Given the description of an element on the screen output the (x, y) to click on. 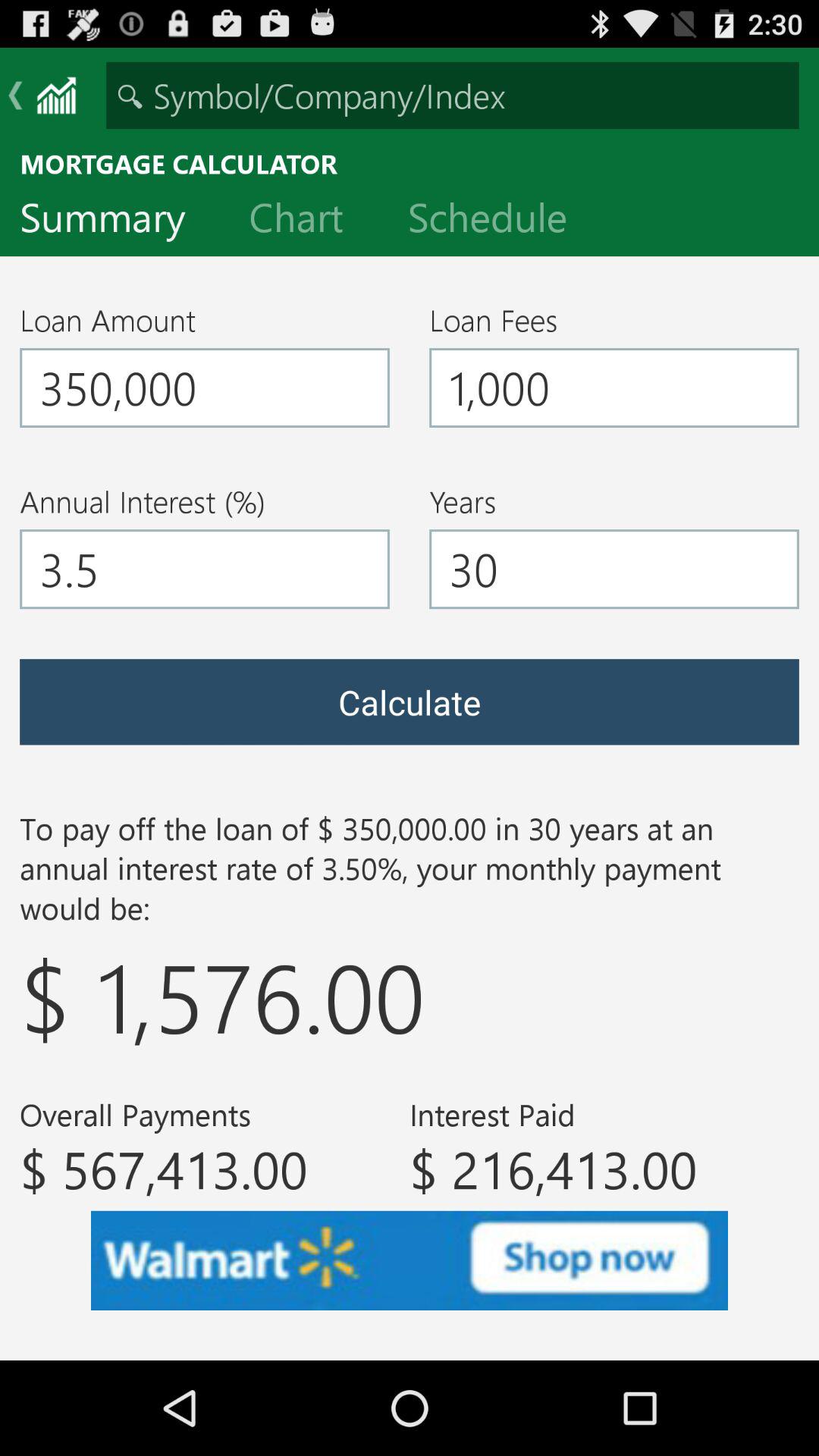
click the calculate button (409, 702)
